Given the description of an element on the screen output the (x, y) to click on. 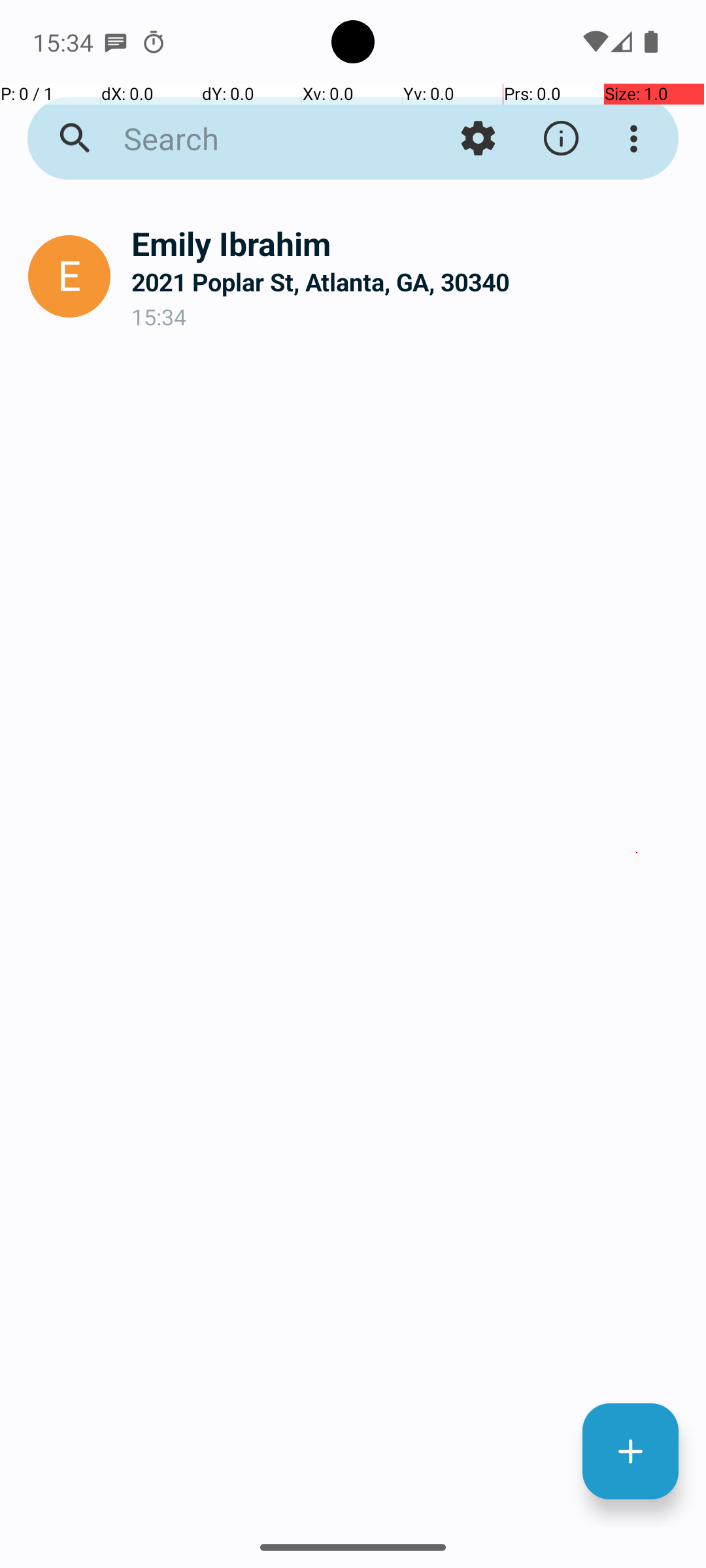
Emily Ibrahim Element type: android.widget.TextView (408, 242)
2021 Poplar St, Atlanta, GA, 30340 Element type: android.widget.TextView (408, 281)
SMS Messenger notification: Emily Ibrahim Element type: android.widget.ImageView (115, 41)
